Given the description of an element on the screen output the (x, y) to click on. 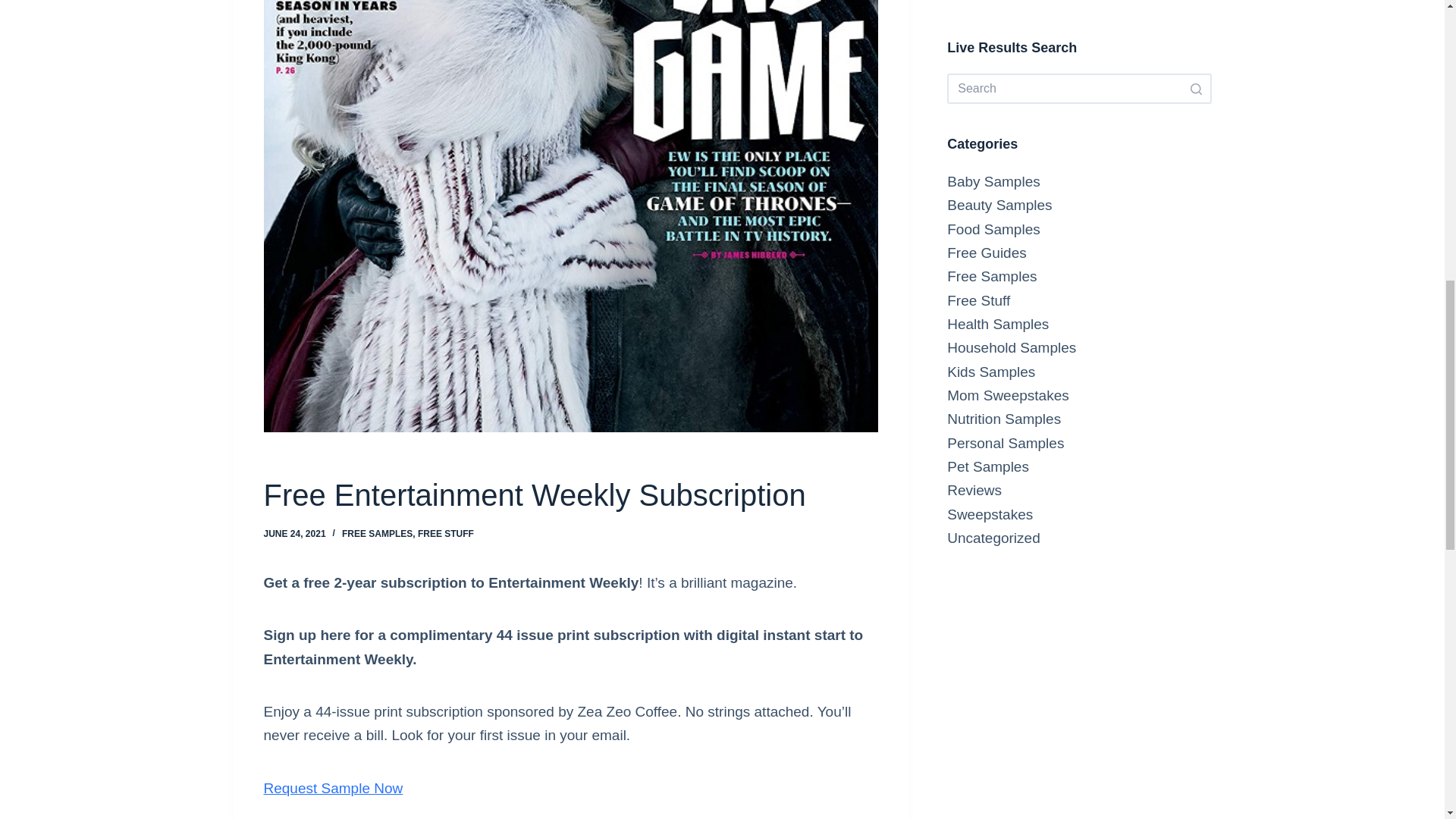
Request Sample Now (333, 788)
FREE SAMPLES (377, 533)
FREE STUFF (445, 533)
Free Entertainment Weekly Subscription (570, 494)
